Given the description of an element on the screen output the (x, y) to click on. 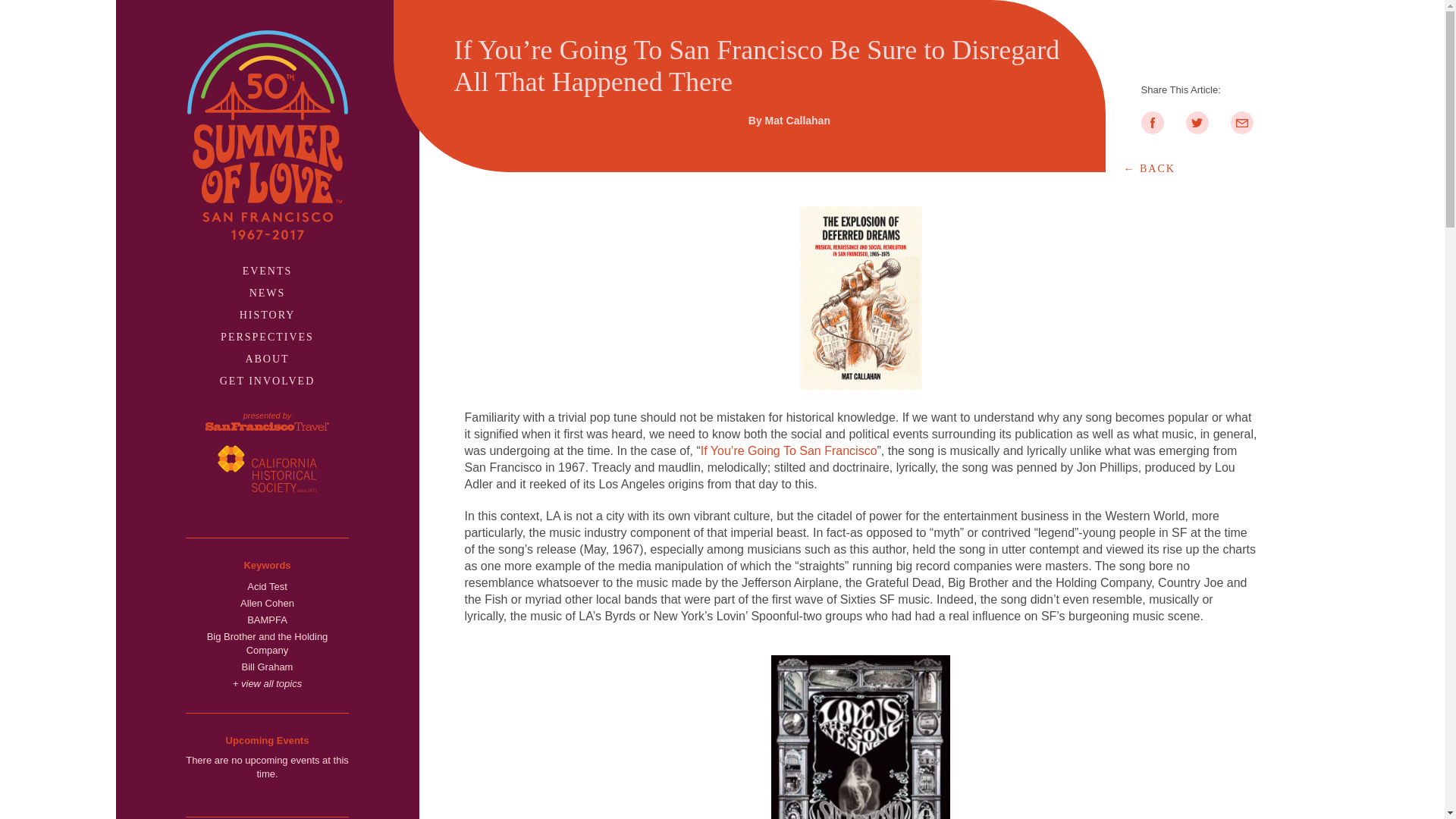
GET INVOLVED (267, 380)
HISTORY (267, 315)
EVENTS (267, 270)
Allen Cohen (267, 603)
Bill Graham (267, 667)
Big Brother and the Holding Company (267, 643)
PERSPECTIVES (267, 337)
NEWS (266, 292)
Acid Test (267, 586)
ABOUT (266, 358)
BAMPFA (267, 619)
